Given the description of an element on the screen output the (x, y) to click on. 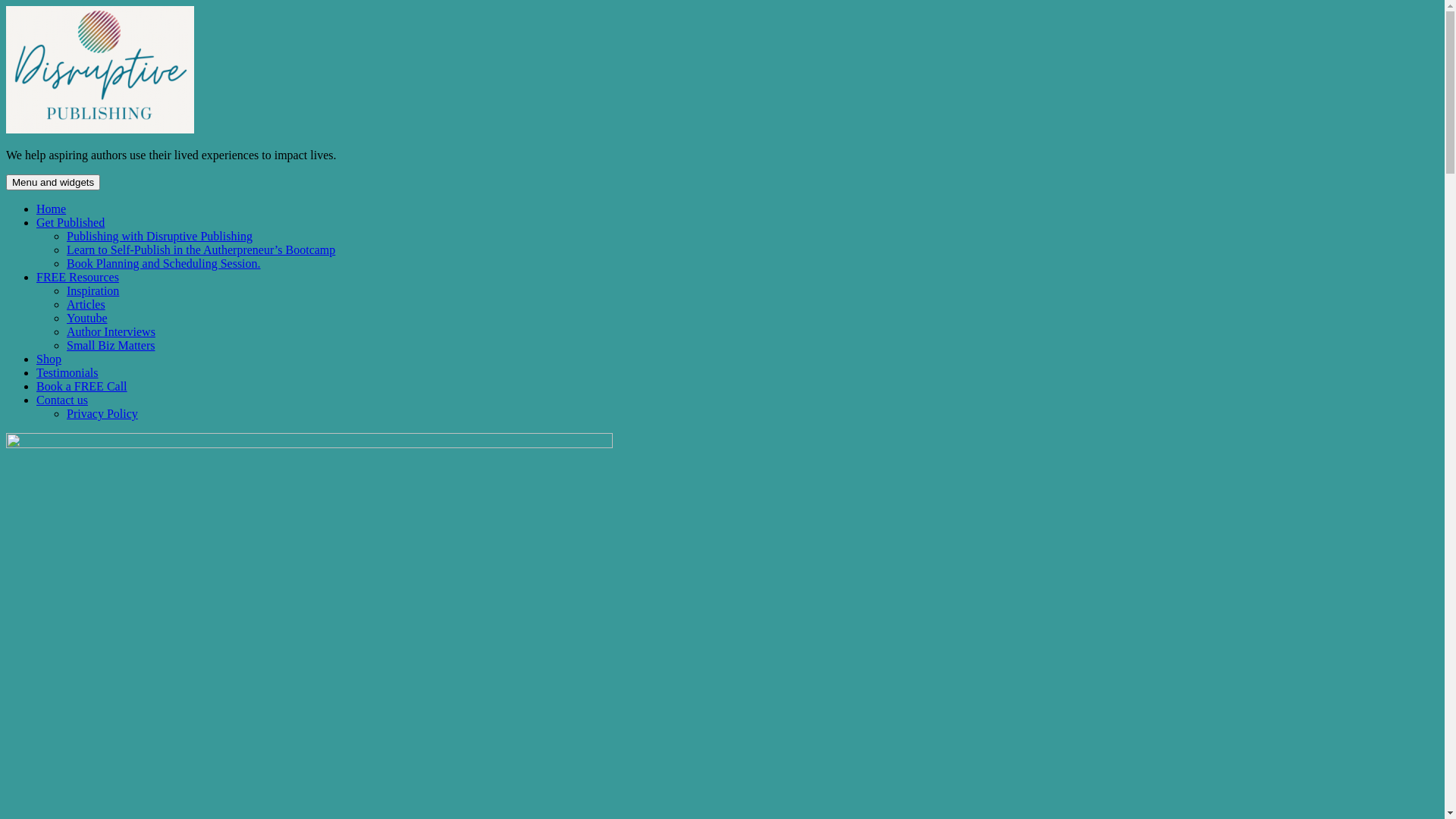
Book a FREE Call Element type: text (81, 385)
Skip to content Element type: text (5, 5)
Author Interviews Element type: text (110, 331)
FREE Resources Element type: text (77, 276)
Youtube Element type: text (86, 317)
Publishing with Disruptive Publishing Element type: text (159, 235)
Get Published Element type: text (70, 222)
Home Element type: text (50, 208)
Articles Element type: text (85, 304)
Privacy Policy Element type: text (102, 413)
Testimonials Element type: text (67, 372)
Contact us Element type: text (61, 399)
Small Biz Matters Element type: text (110, 344)
Inspiration Element type: text (92, 290)
Shop Element type: text (48, 358)
Book Planning and Scheduling Session. Element type: text (163, 263)
Menu and widgets Element type: text (53, 182)
